Given the description of an element on the screen output the (x, y) to click on. 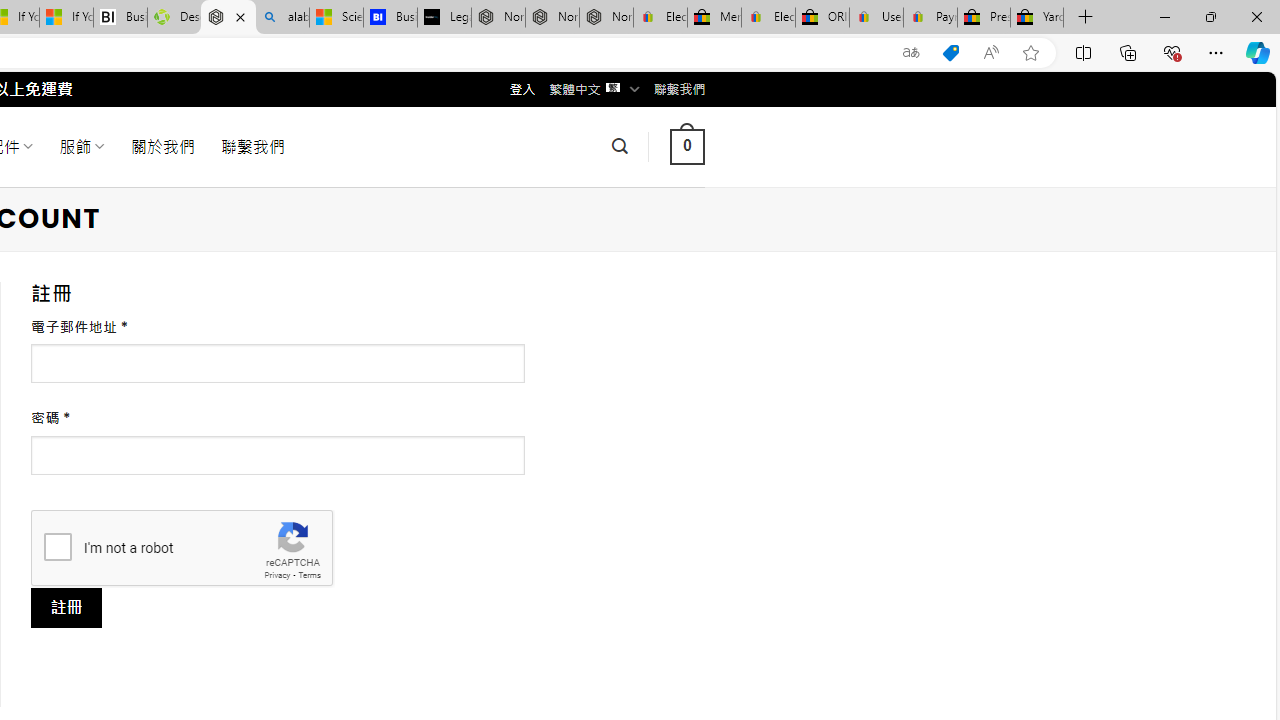
User Privacy Notice | eBay (875, 17)
Descarga Driver Updater (174, 17)
  0   (687, 146)
Yard, Garden & Outdoor Living (1037, 17)
I'm not a robot (57, 546)
